Given the description of an element on the screen output the (x, y) to click on. 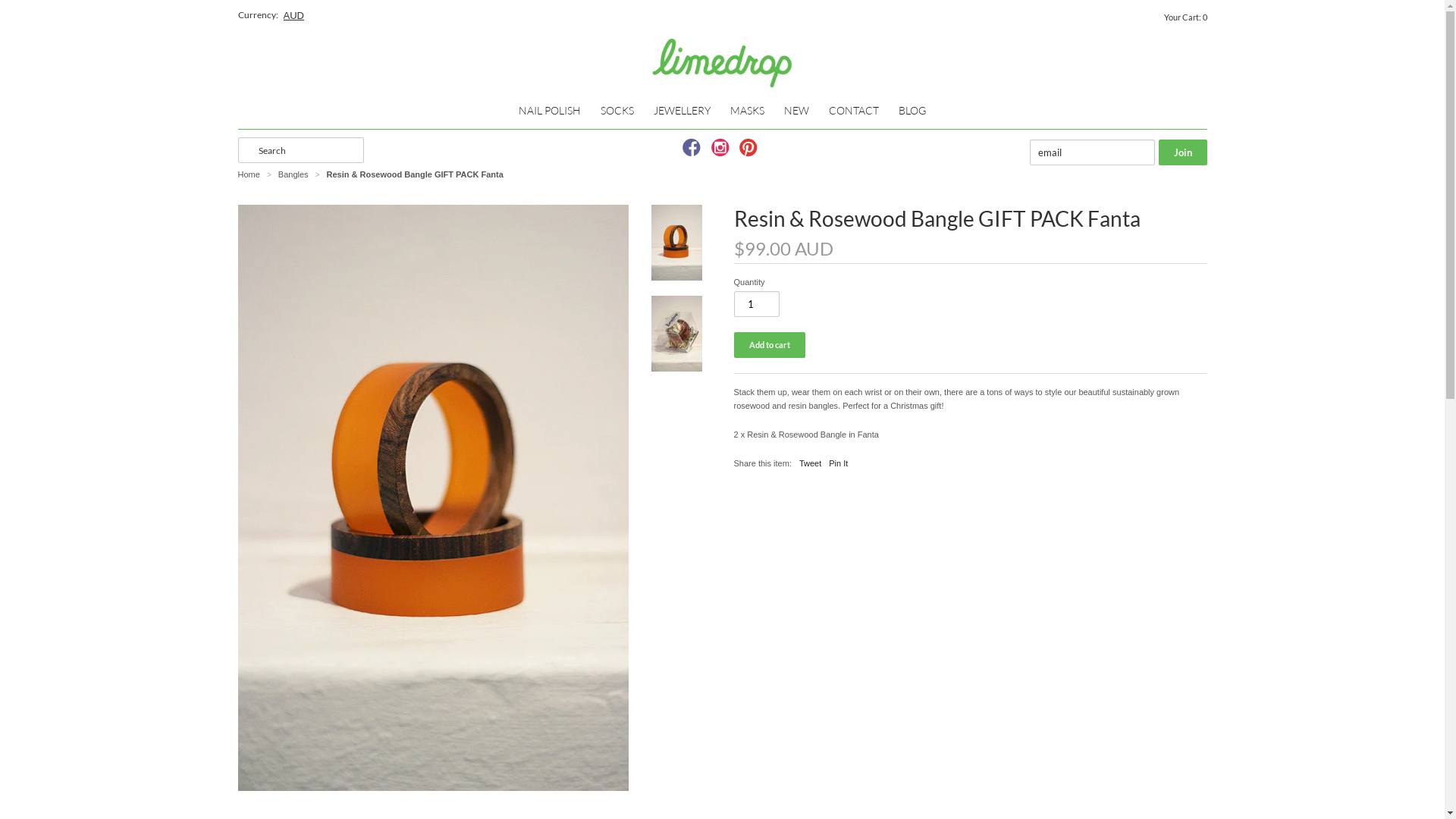
Home Element type: text (249, 173)
Join Element type: text (1182, 152)
Pin It Element type: text (837, 462)
Add to cart Element type: text (769, 344)
Your Cart: 0 Element type: text (1187, 16)
Follow us on Facebook Element type: hover (693, 152)
BLOG Element type: text (912, 110)
Follow us on Instagram Element type: hover (722, 152)
Follow us on Pinterest Element type: hover (750, 152)
SOCKS Element type: text (617, 110)
Tweet Element type: text (810, 462)
NAIL POLISH Element type: text (549, 110)
JEWELLERY Element type: text (681, 110)
MASKS Element type: text (747, 110)
CONTACT Element type: text (853, 110)
NEW Element type: text (796, 110)
Bangles Element type: text (294, 173)
